Given the description of an element on the screen output the (x, y) to click on. 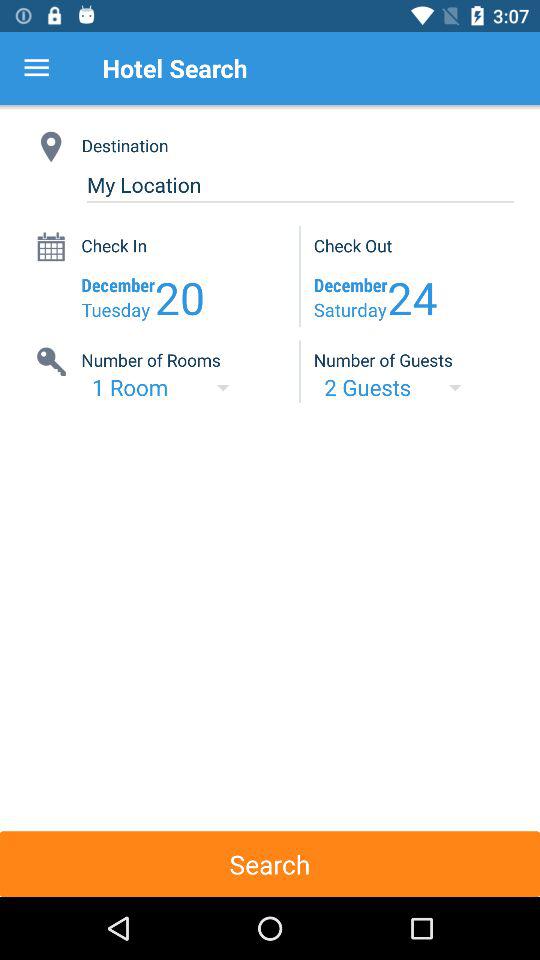
symbol beside destination (51, 146)
